Given the description of an element on the screen output the (x, y) to click on. 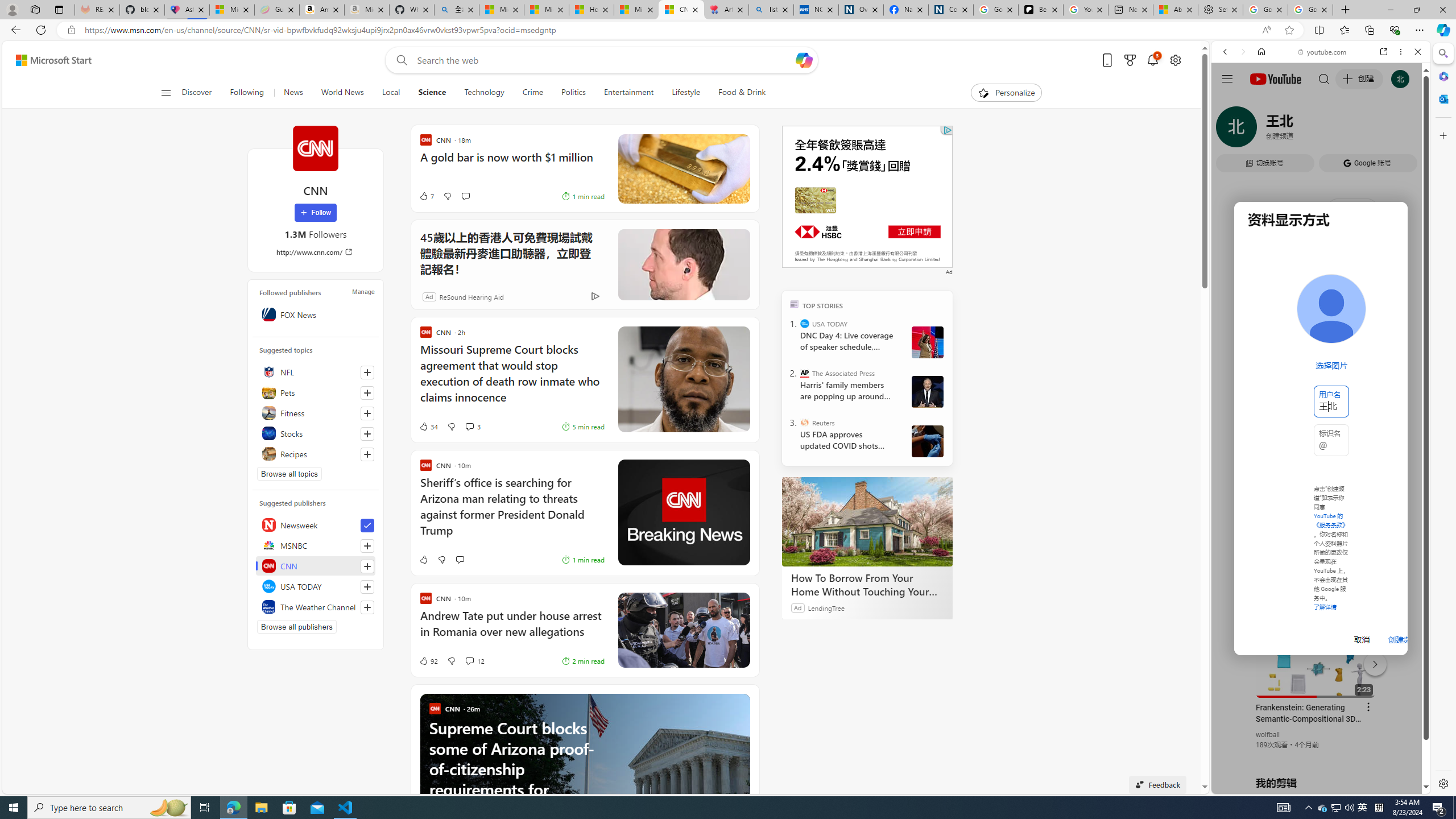
#you (1315, 659)
USA TODAY (315, 586)
Newsweek (315, 524)
